Given the description of an element on the screen output the (x, y) to click on. 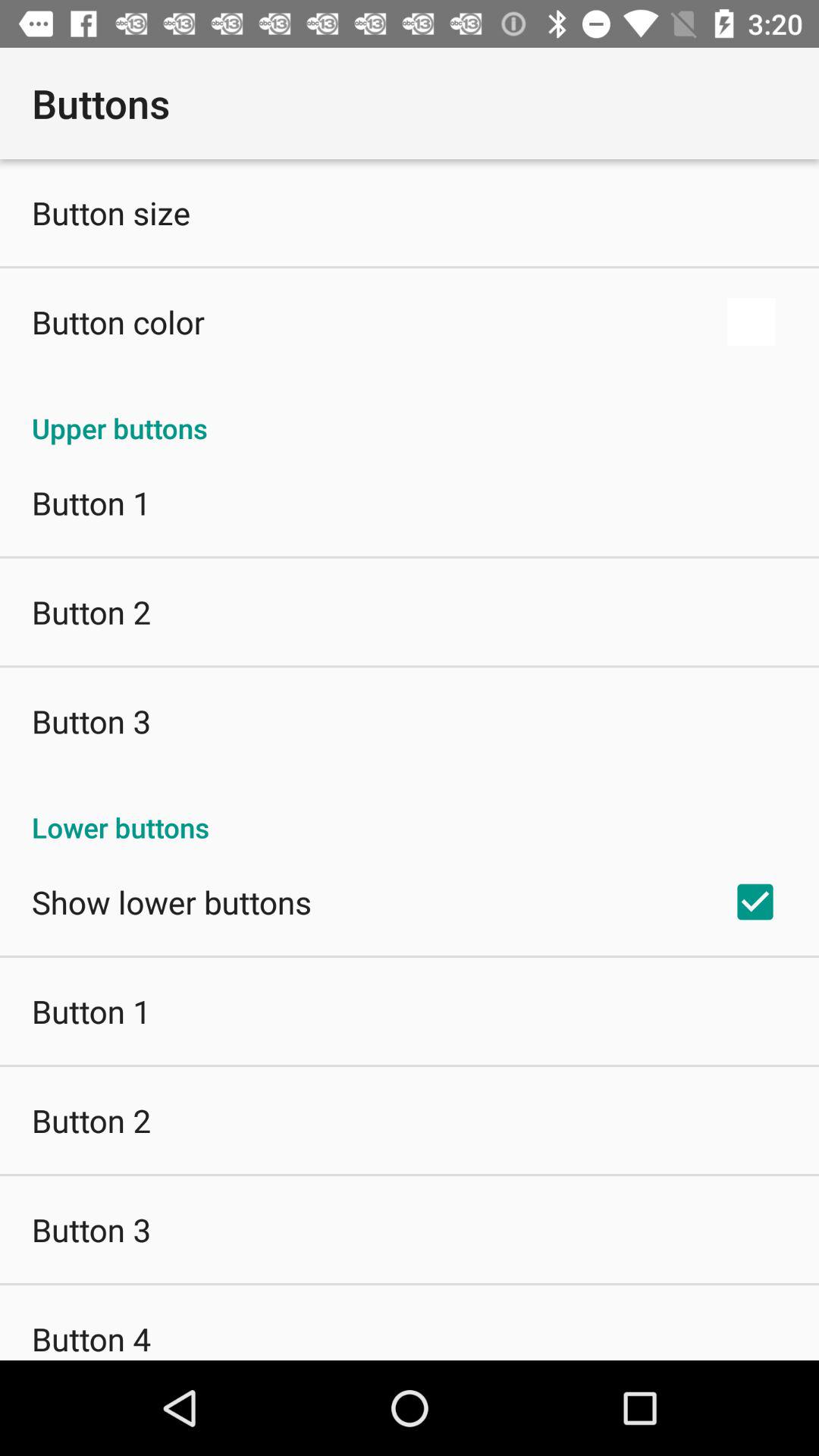
choose the icon next to the button color item (751, 321)
